Given the description of an element on the screen output the (x, y) to click on. 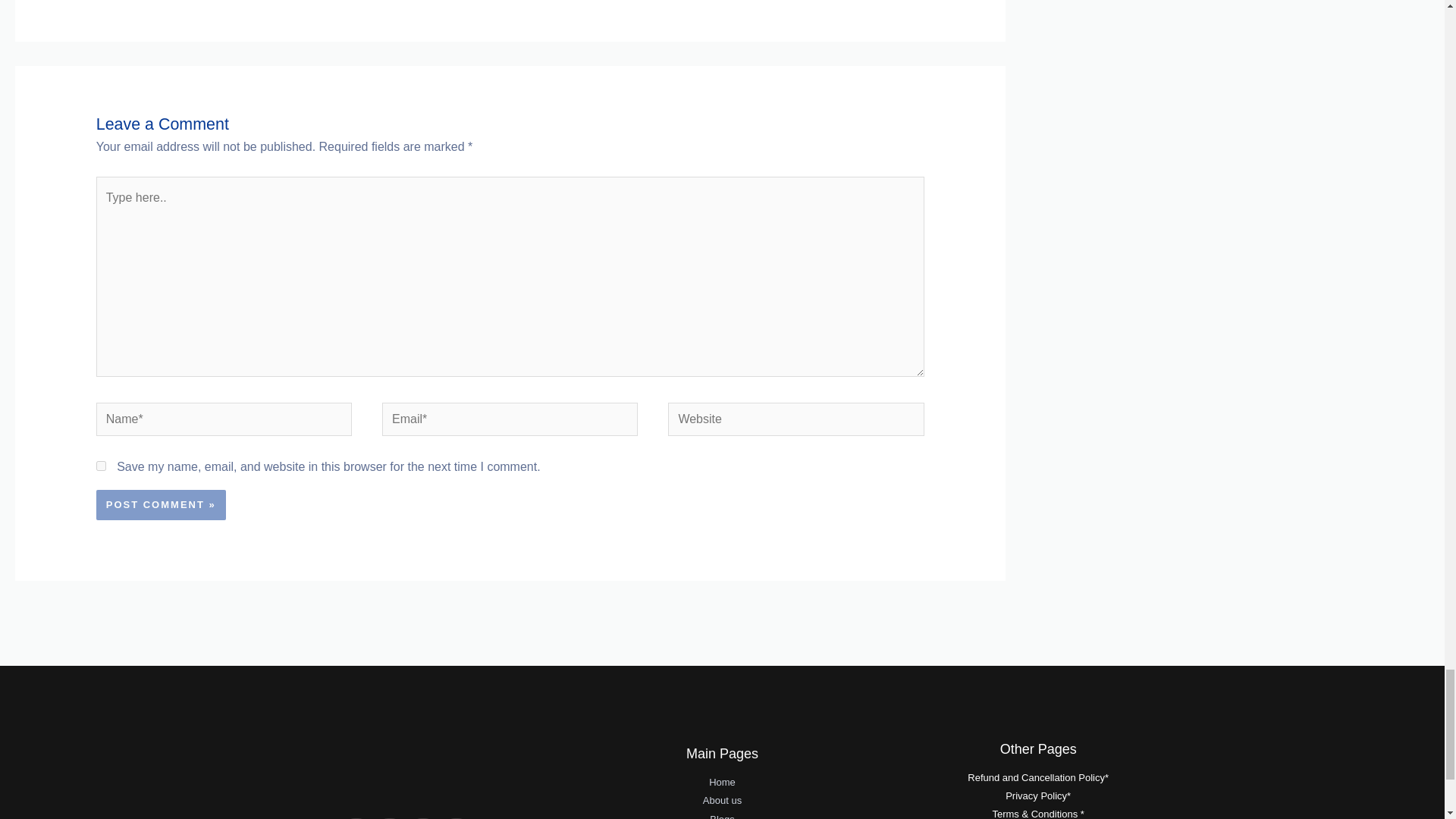
yes (101, 465)
